Given the description of an element on the screen output the (x, y) to click on. 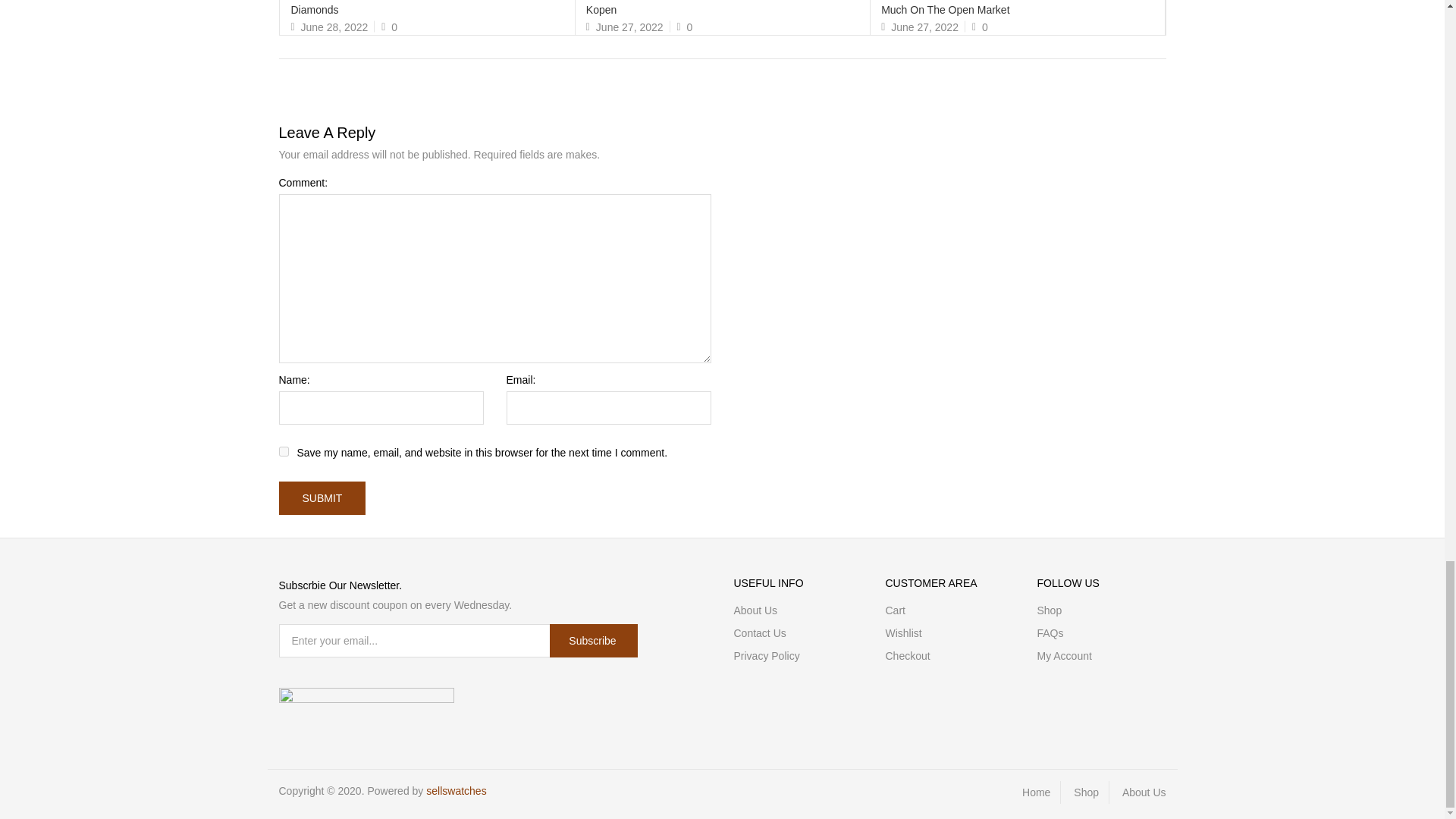
subscribe (593, 640)
yes (283, 451)
payments (366, 696)
submit (322, 498)
